Given the description of an element on the screen output the (x, y) to click on. 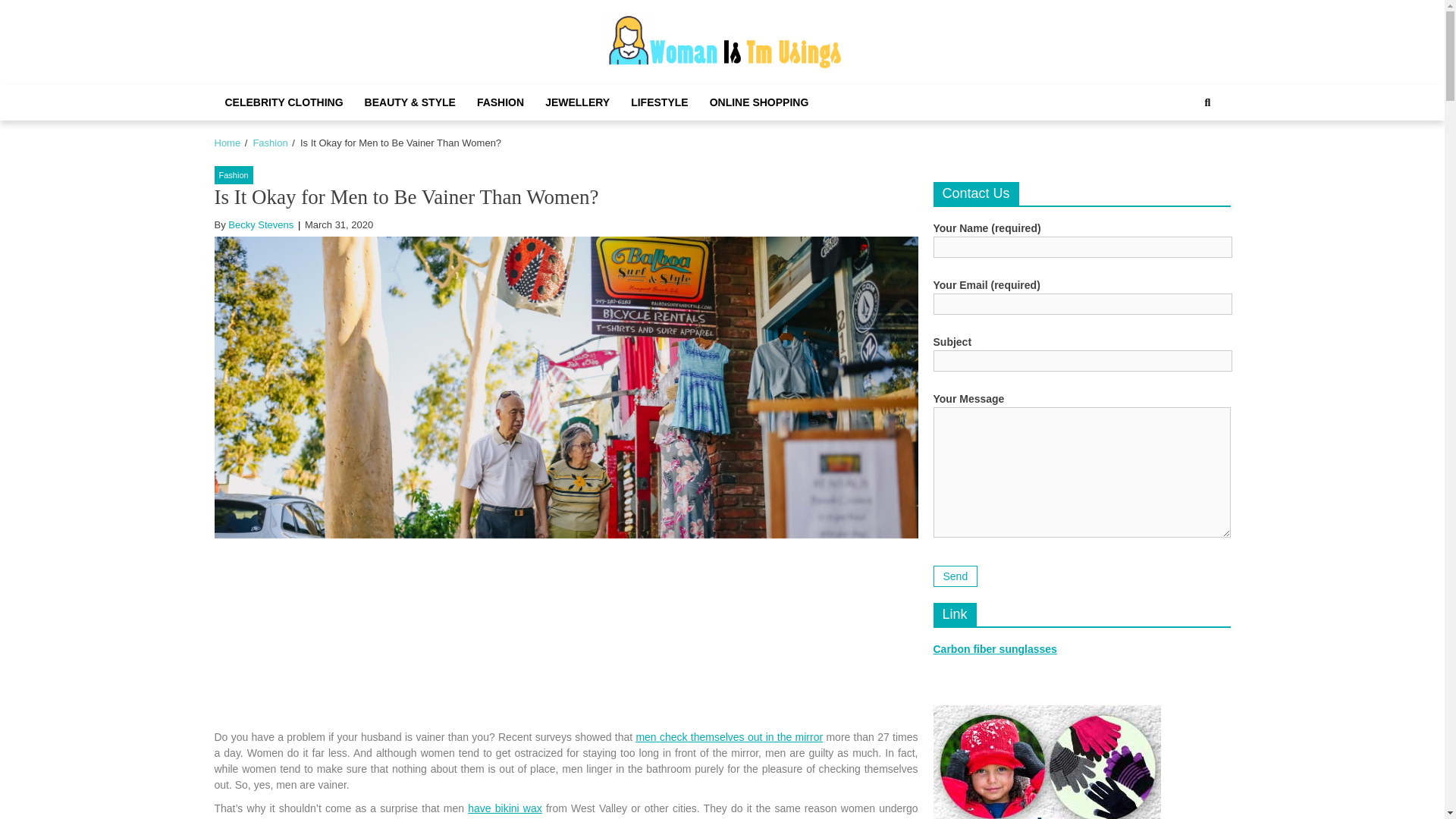
LIFESTYLE (659, 102)
CELEBRITY CLOTHING (283, 102)
Becky Stevens (261, 224)
ONLINE SHOPPING (758, 102)
Fashion (232, 175)
Carbon fiber sunglasses (995, 648)
men check themselves out in the mirror (728, 736)
have bikini wax (504, 808)
Search (1207, 102)
Home (227, 142)
